Given the description of an element on the screen output the (x, y) to click on. 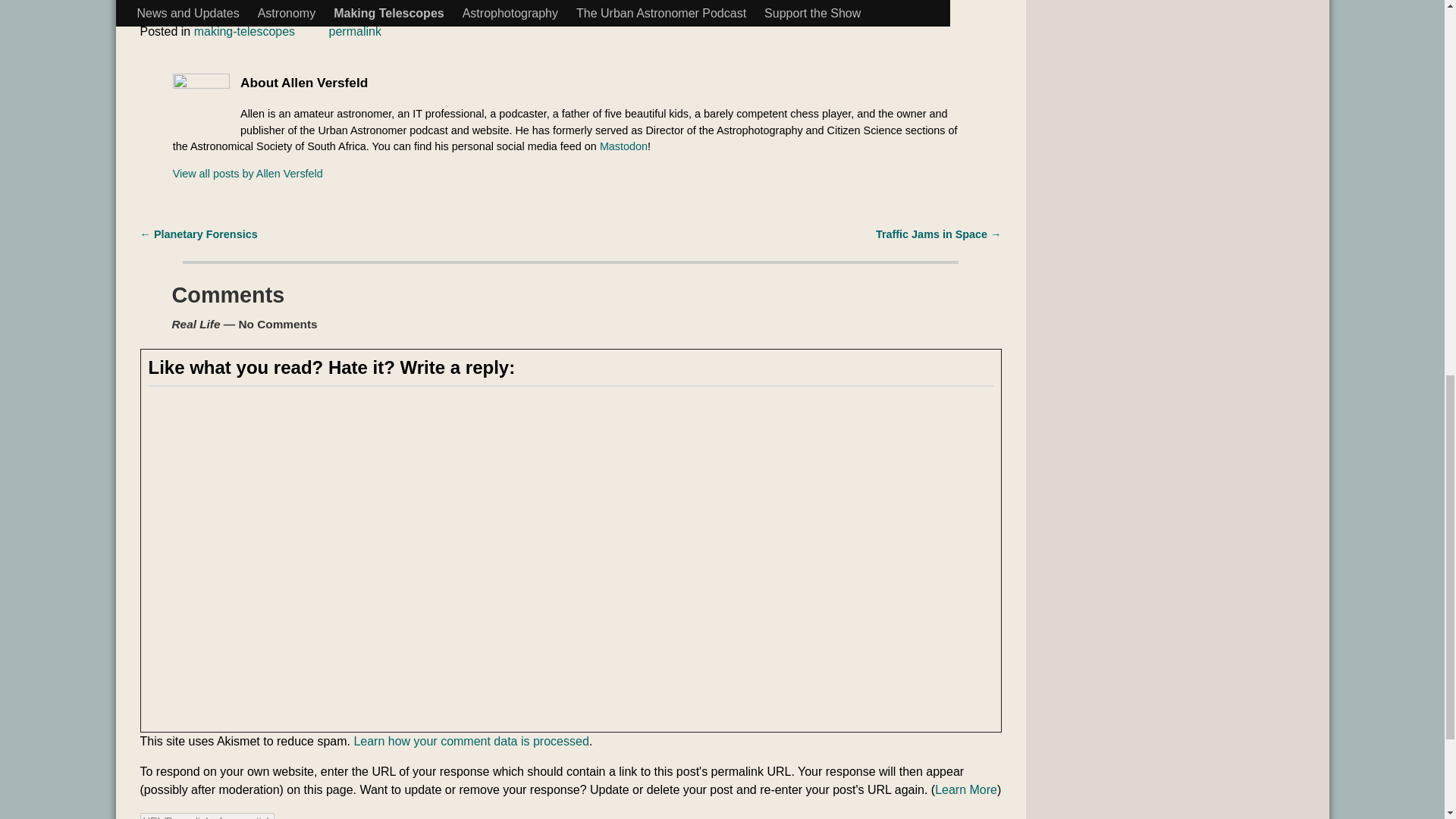
making-telescopes (244, 31)
Permalink to Real Life (355, 31)
permalink (355, 31)
